Given the description of an element on the screen output the (x, y) to click on. 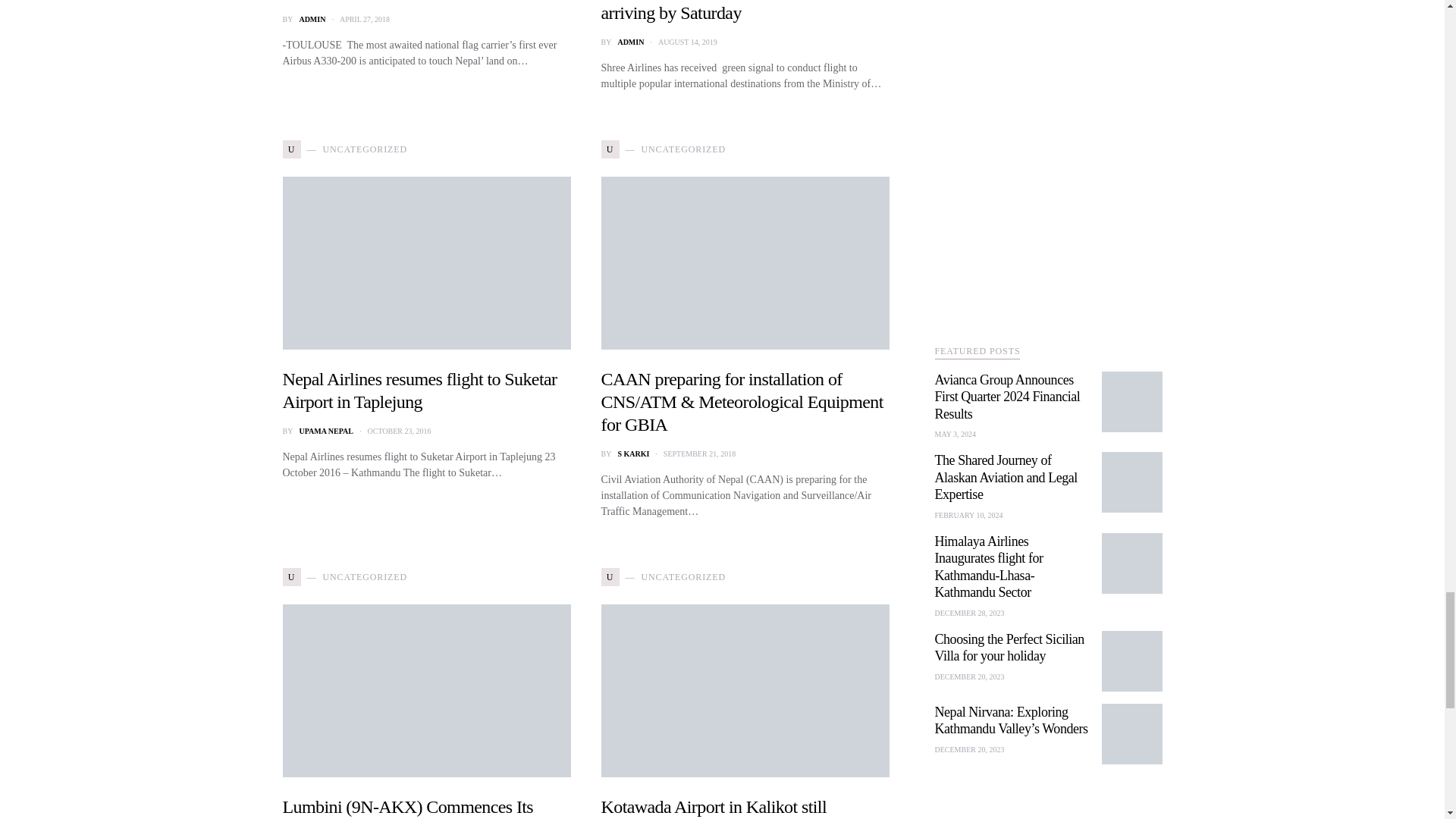
View all posts by Upama Nepal (325, 430)
View all posts by S Karki (633, 453)
View all posts by Admin (311, 19)
View all posts by Admin (630, 41)
